Given the description of an element on the screen output the (x, y) to click on. 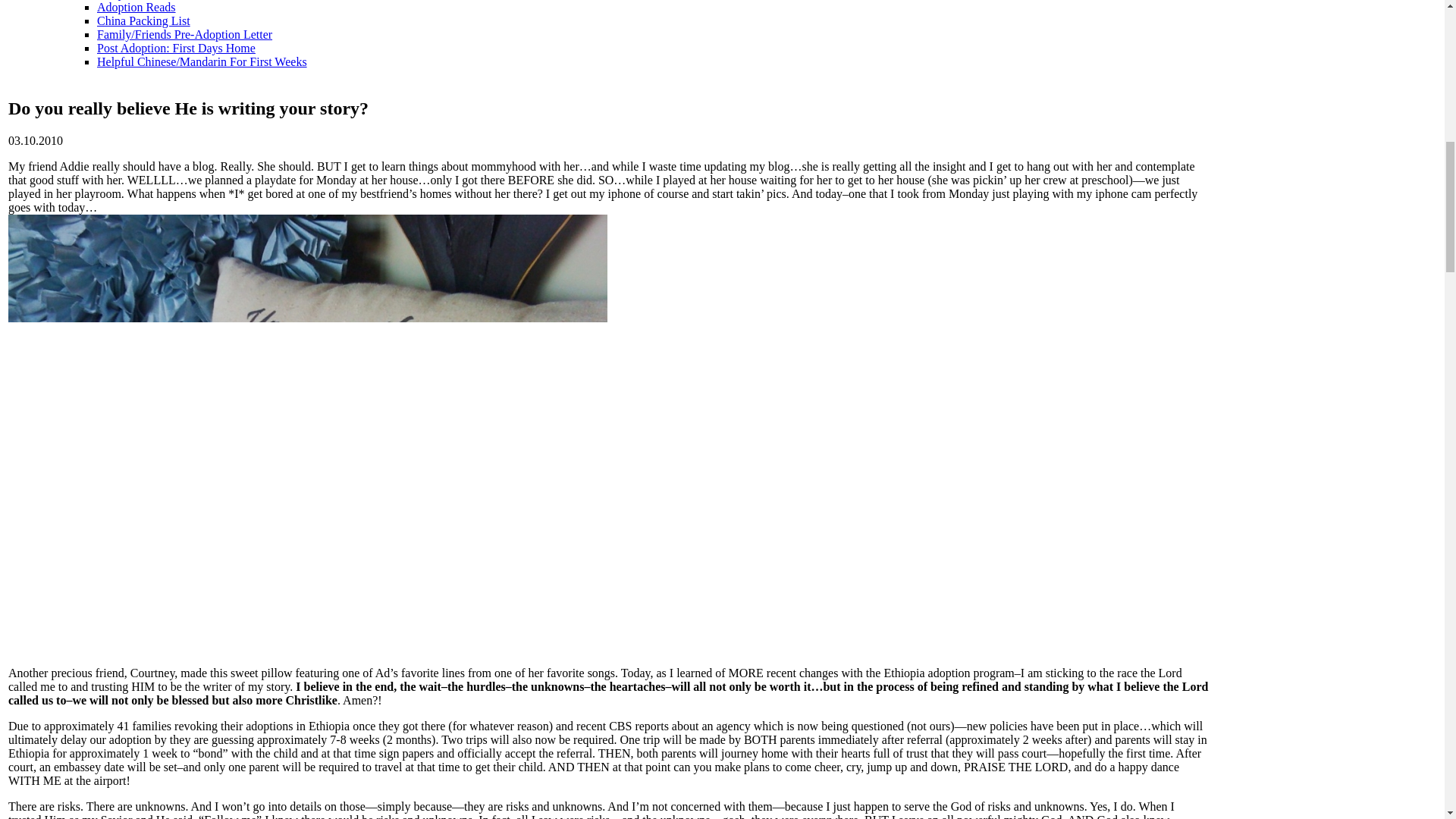
China Packing List (143, 20)
Adoption Reads (136, 6)
Post Adoption: First Days Home (176, 47)
